Given the description of an element on the screen output the (x, y) to click on. 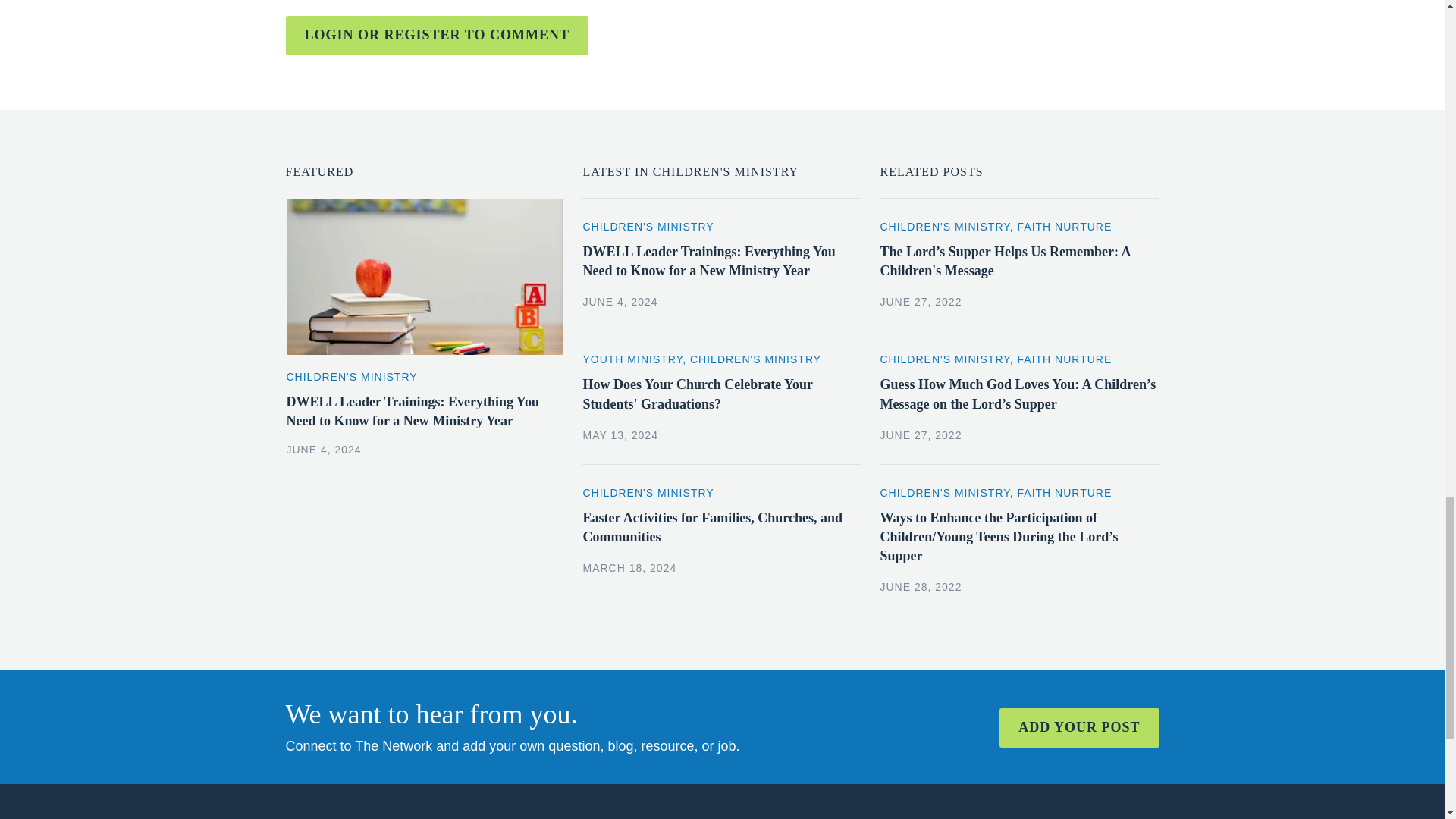
Photo by Element5 Digital on Unsplash (425, 276)
LOGIN OR REGISTER TO COMMENT (436, 35)
